Given the description of an element on the screen output the (x, y) to click on. 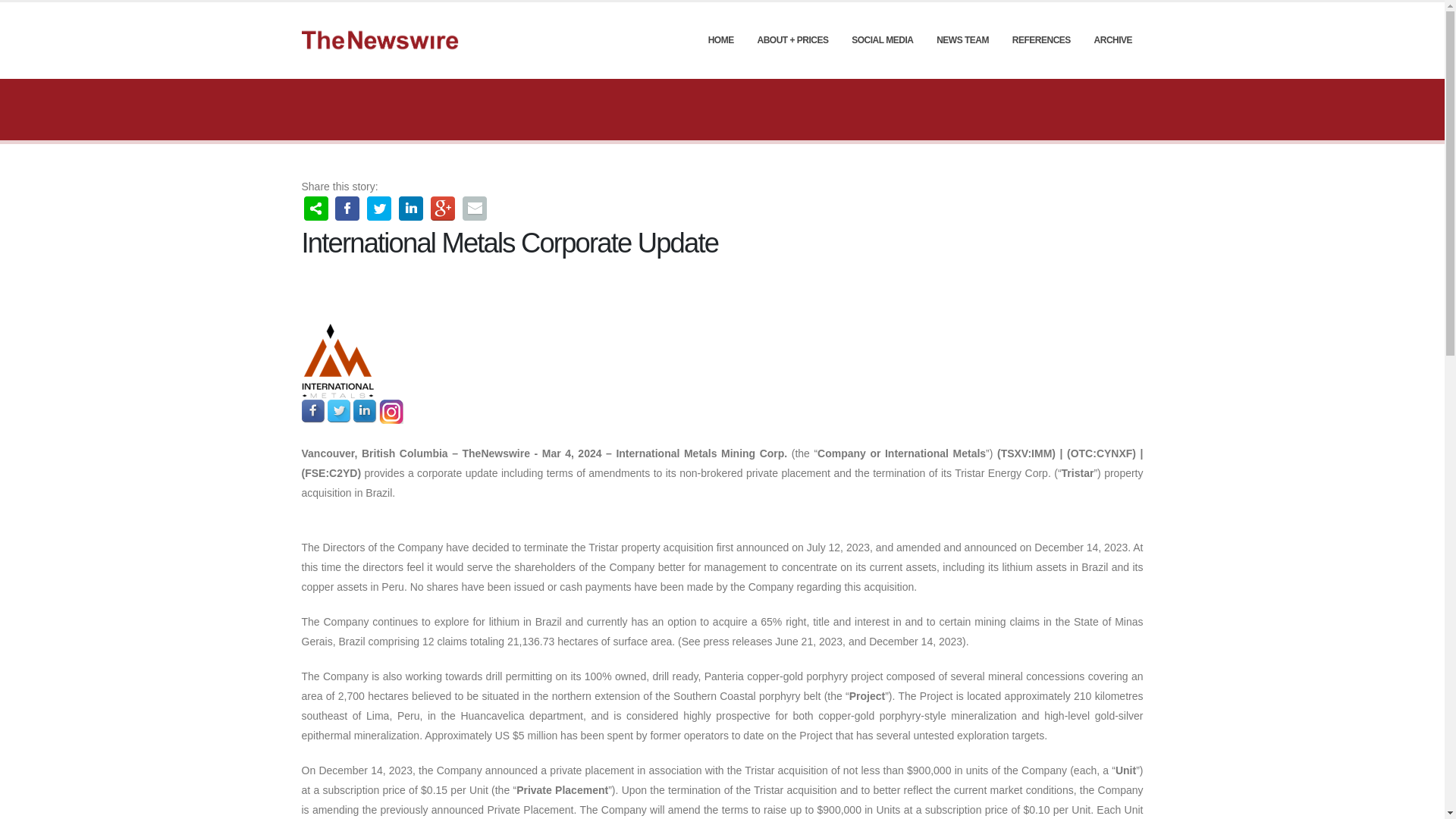
SOCIAL MEDIA (882, 39)
NEWS TEAM (963, 39)
REFERENCES (1041, 39)
